Given the description of an element on the screen output the (x, y) to click on. 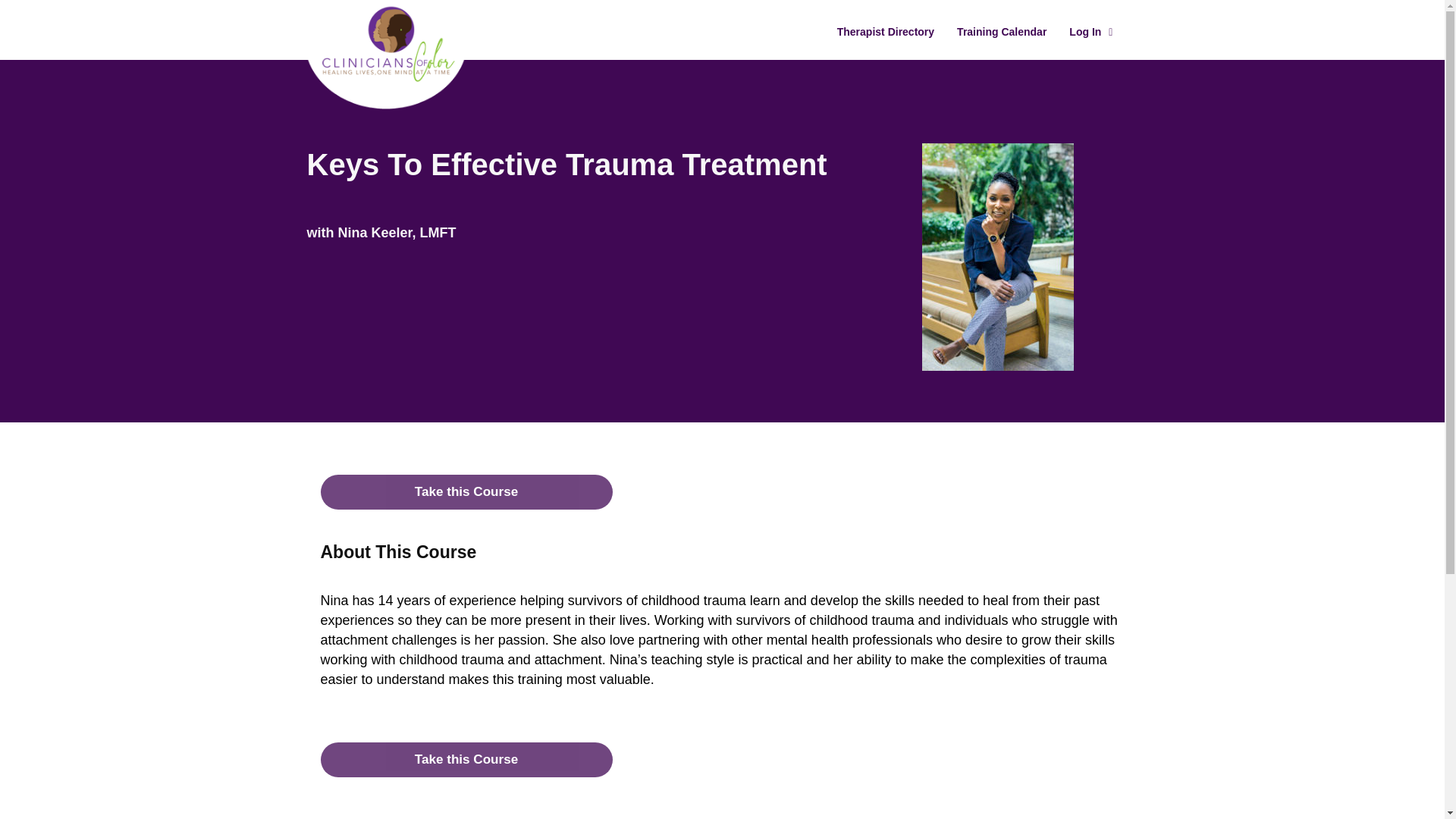
Take this Course (465, 492)
Take this Course (465, 759)
Log In (1090, 31)
Training Calendar (1001, 31)
Take this Course (465, 759)
Take this Course (465, 492)
Therapist Directory (885, 31)
